Given the description of an element on the screen output the (x, y) to click on. 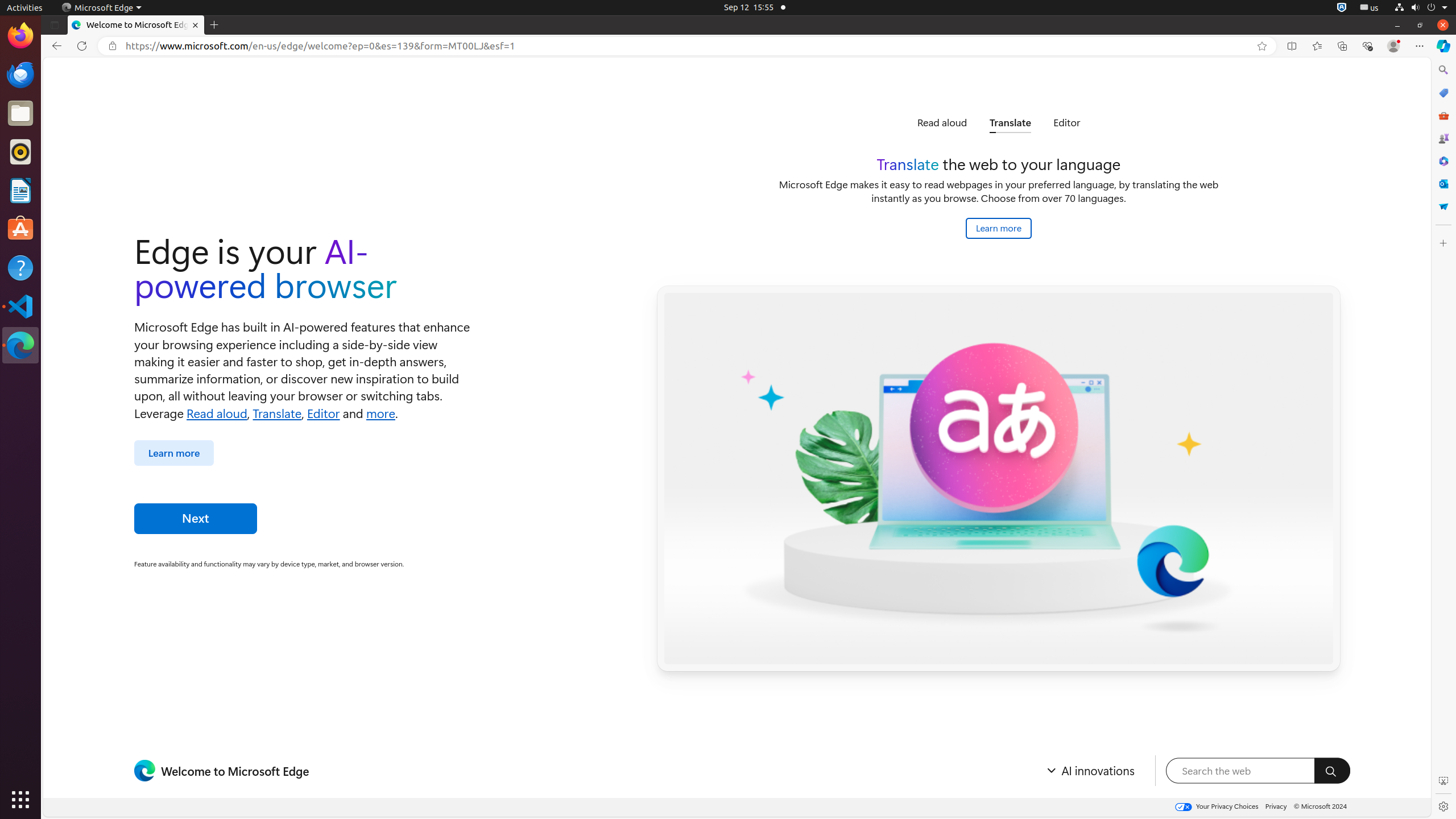
Microsoft Shopping Element type: push-button (1443, 92)
Editor Element type: link (323, 412)
Profile 1 Profile, Please sign in Element type: push-button (1392, 46)
Privacy Element type: link (1275, 805)
Scroll to next Element type: push-button (1115, 122)
